Given the description of an element on the screen output the (x, y) to click on. 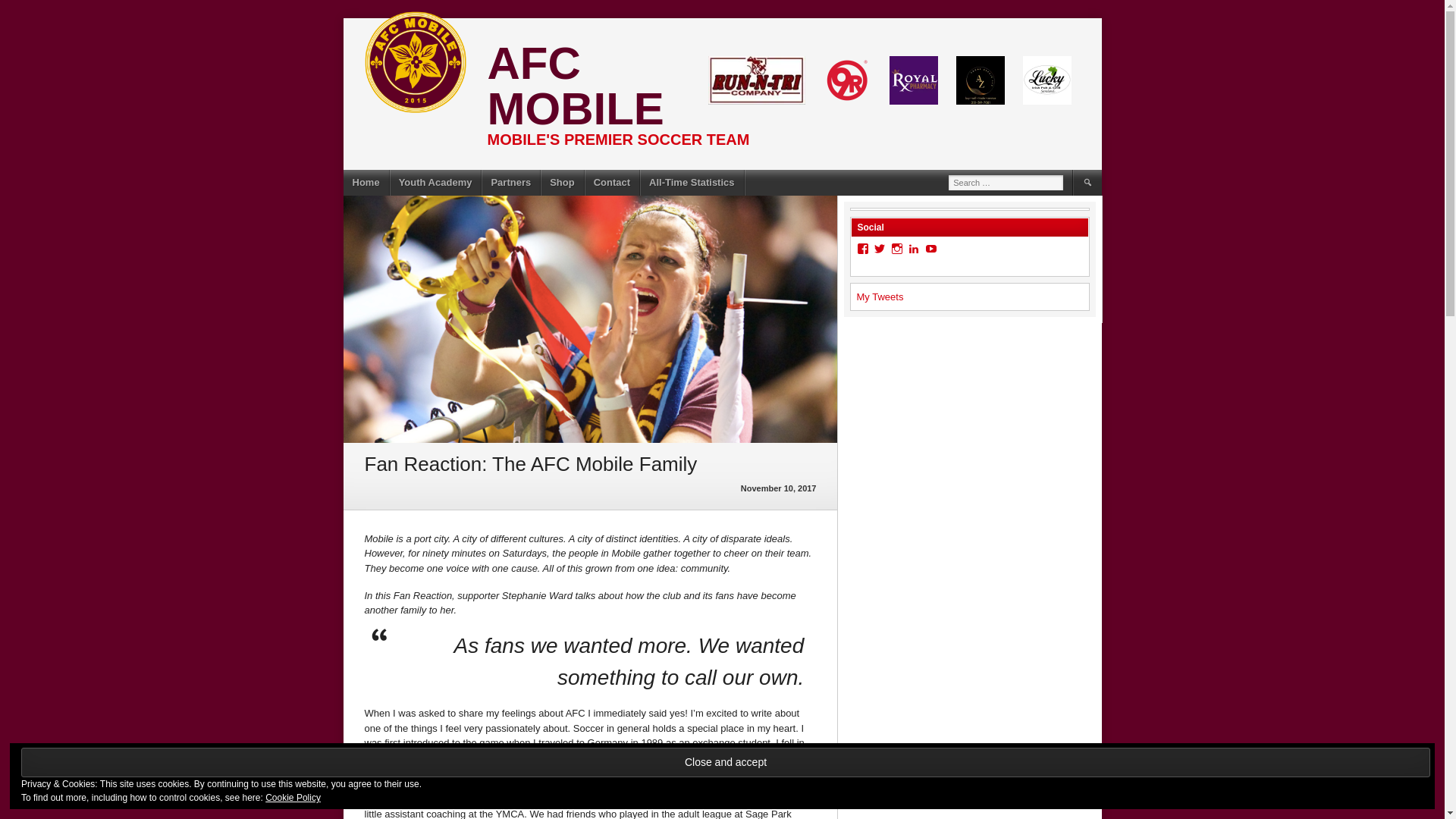
Partners (510, 182)
AZ Phone Repair (980, 80)
Run-N-Tri Company (756, 80)
Close and accept (725, 762)
Lucky Irish Pub and Grill (1046, 80)
November 10, 2017 (778, 488)
All-Time Statistics (692, 182)
Facebook (863, 248)
Home (365, 182)
